Given the description of an element on the screen output the (x, y) to click on. 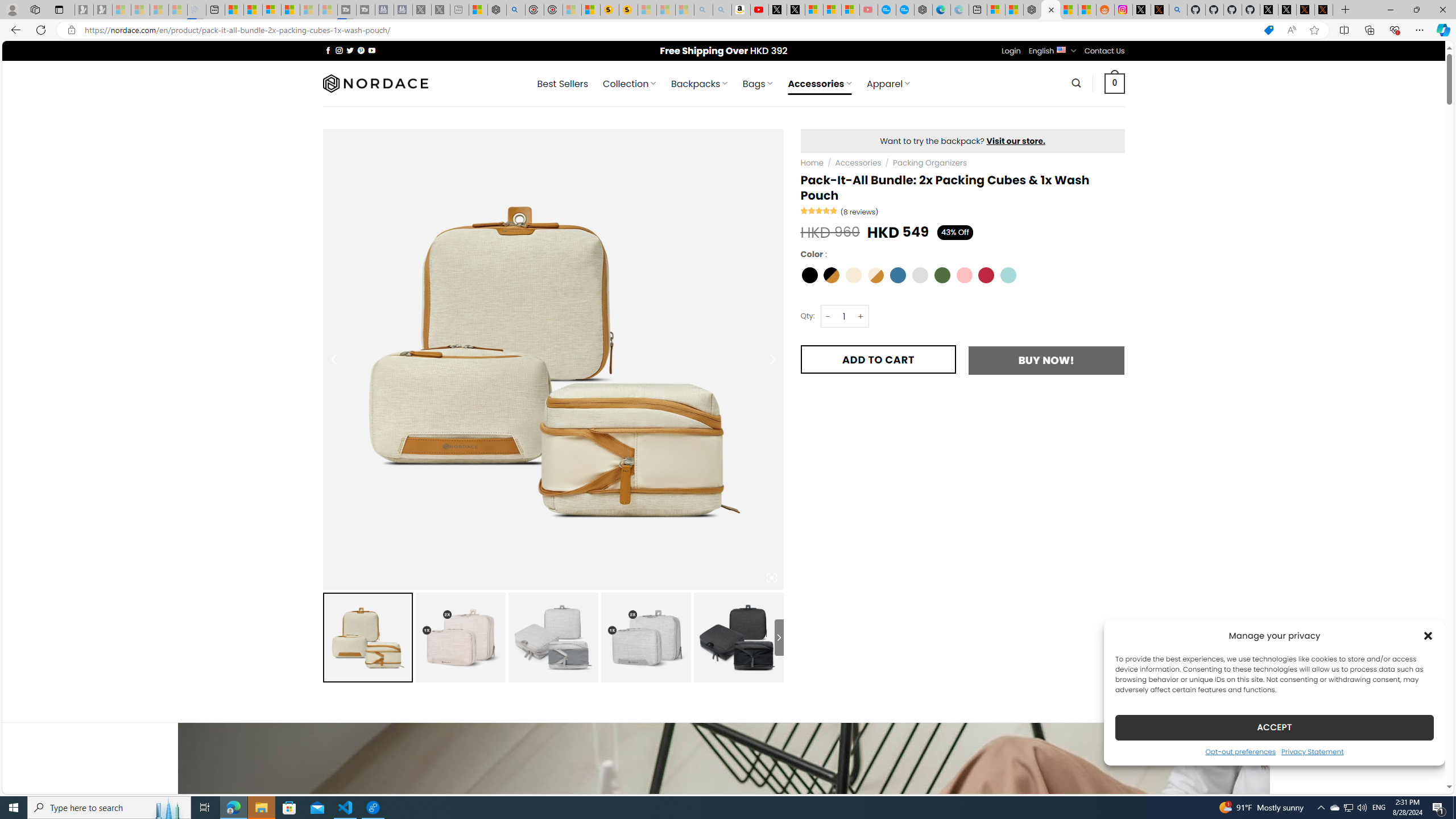
Nordace - Nordace has arrived Hong Kong (923, 9)
Packing Organizers (929, 162)
ACCEPT (1274, 727)
